Given the description of an element on the screen output the (x, y) to click on. 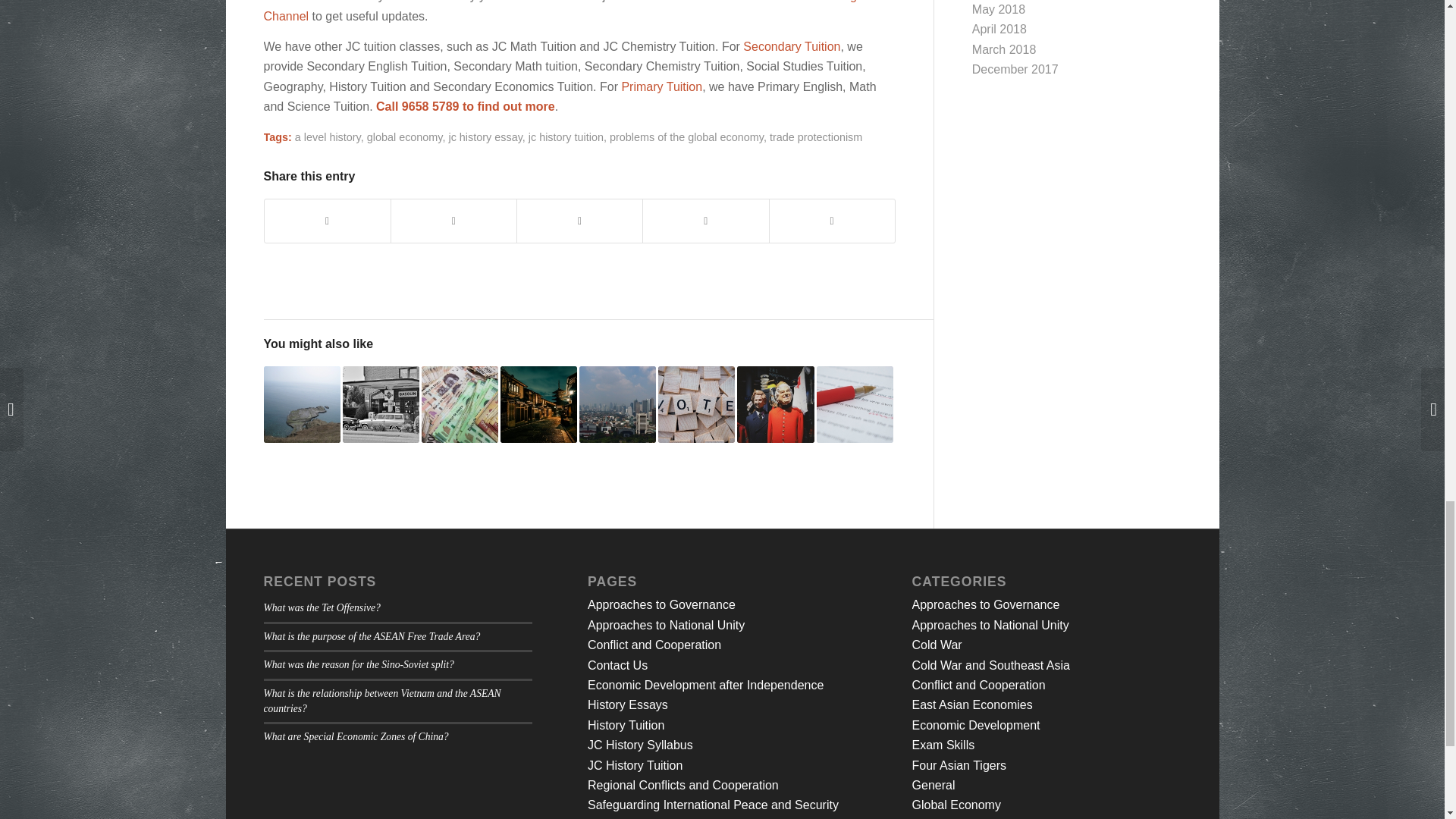
Primary Tuition (661, 86)
trade protectionism (815, 137)
jc history essay (484, 137)
jc history tuition (566, 137)
Secondary Tuition (791, 46)
What happened during the Taiwan Straits Crises? (301, 404)
problems of the global economy (686, 137)
a level history (328, 137)
Telegram Channel (570, 11)
global economy (404, 137)
